Given the description of an element on the screen output the (x, y) to click on. 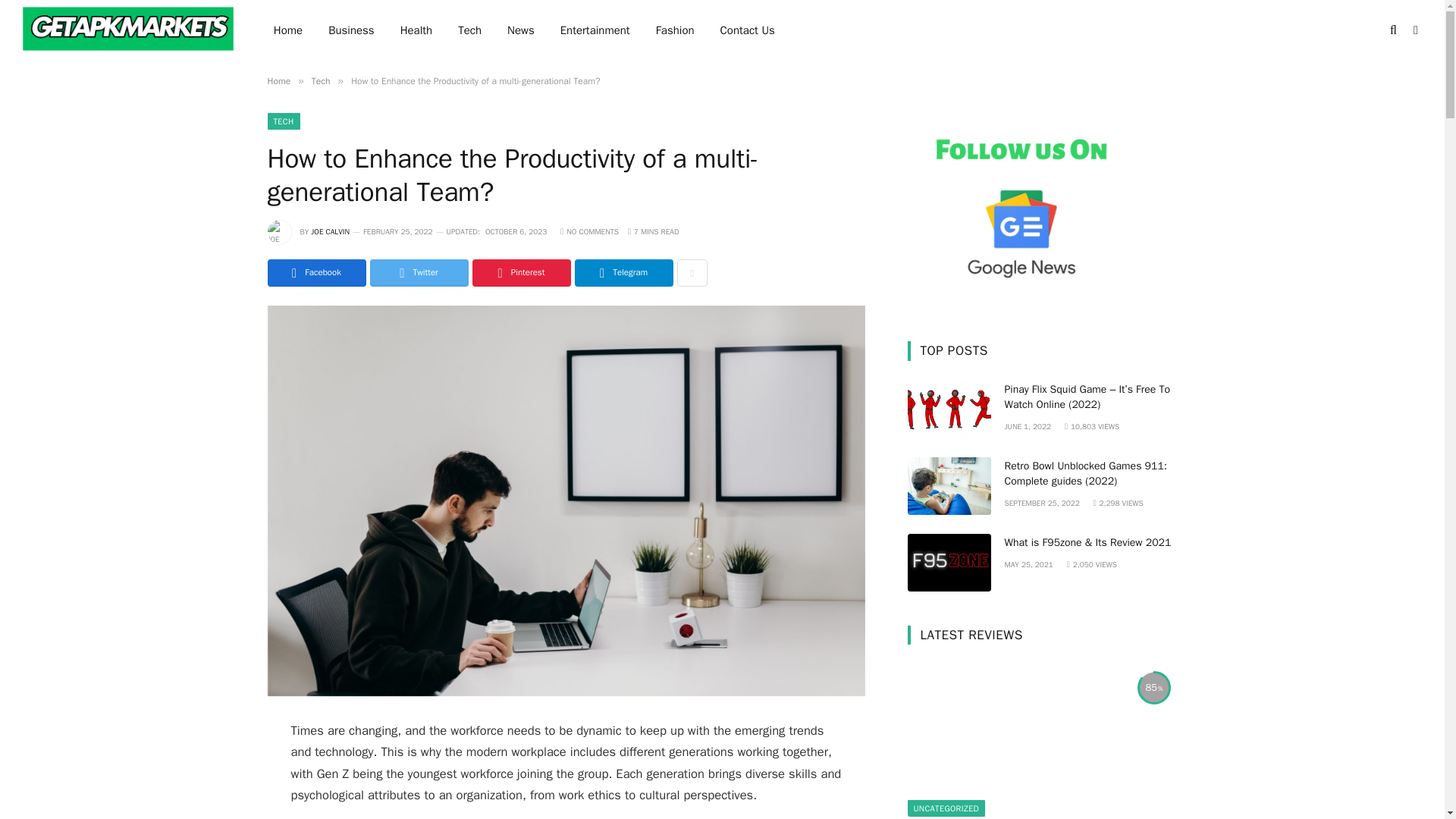
Share on Facebook (315, 272)
Tech (320, 80)
Health (416, 30)
Home (277, 80)
Posts by Joe Calvin (330, 231)
Contact Us (747, 30)
Fashion (675, 30)
Home (287, 30)
Business (351, 30)
Entertainment (595, 30)
TECH (282, 121)
Switch to Dark Design - easier on eyes. (1414, 30)
Getapkmarkets (128, 31)
